Given the description of an element on the screen output the (x, y) to click on. 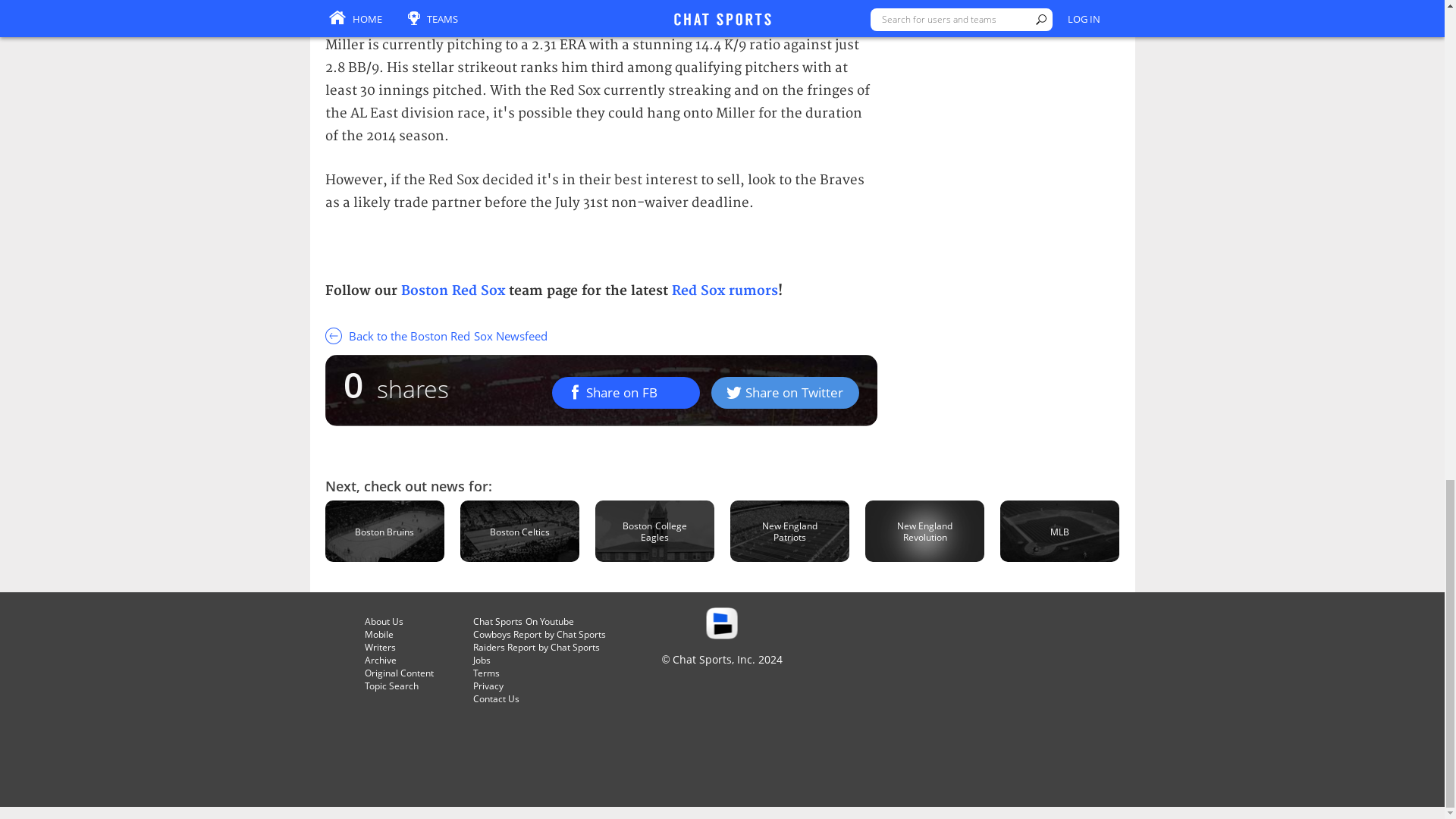
Red Sox rumors (724, 290)
New England Patriots (789, 530)
Share on Twitter (785, 392)
Back to the Boston Red Sox Newsfeed (600, 335)
Boston Red Sox (451, 290)
New England Revolution (924, 530)
Boston Bruins (384, 530)
Boston Celtics (519, 530)
Share on FB (625, 392)
Boston College Eagles (654, 530)
